Given the description of an element on the screen output the (x, y) to click on. 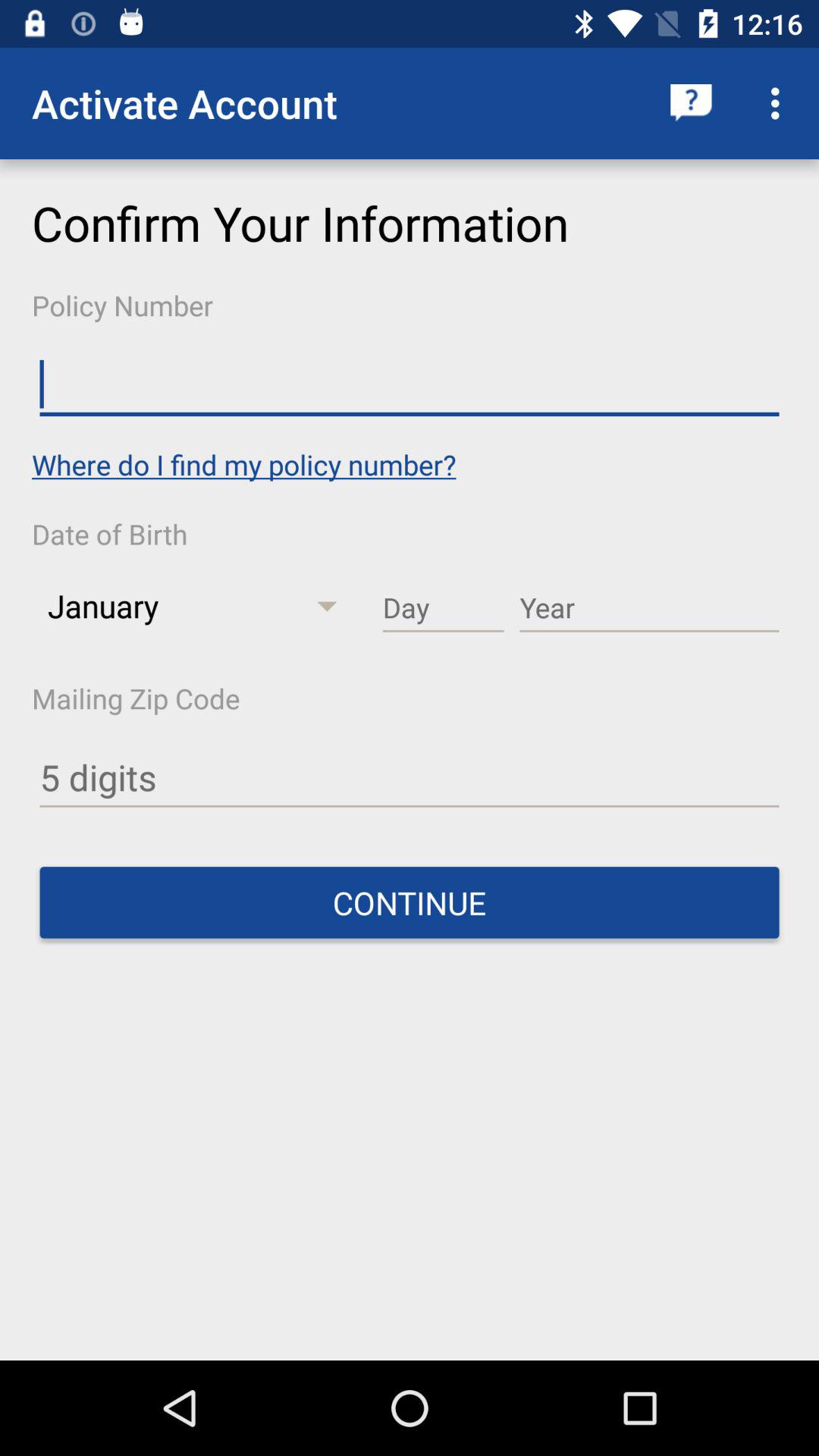
policy number field (409, 384)
